Given the description of an element on the screen output the (x, y) to click on. 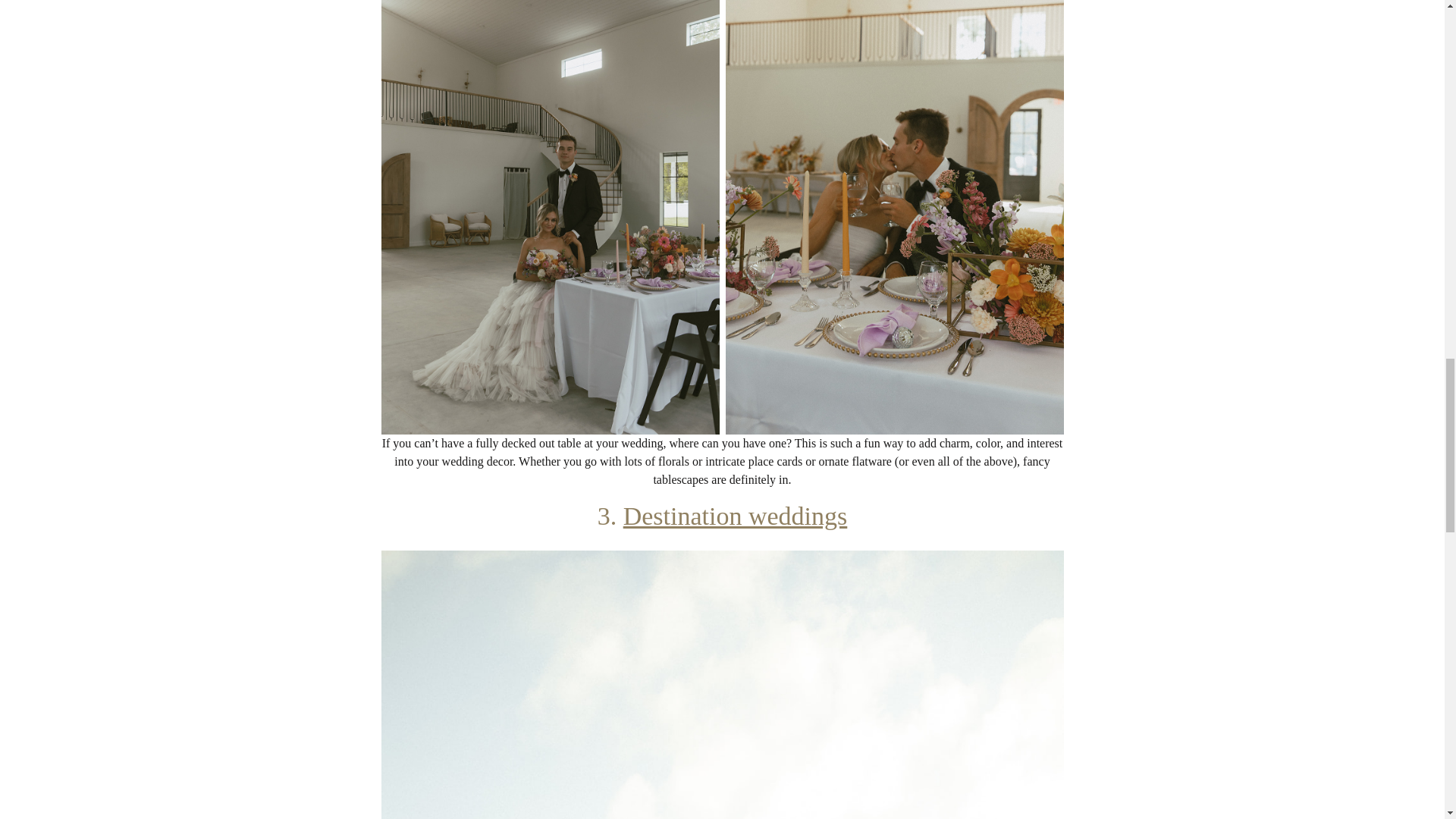
Destination weddings (735, 515)
